Given the description of an element on the screen output the (x, y) to click on. 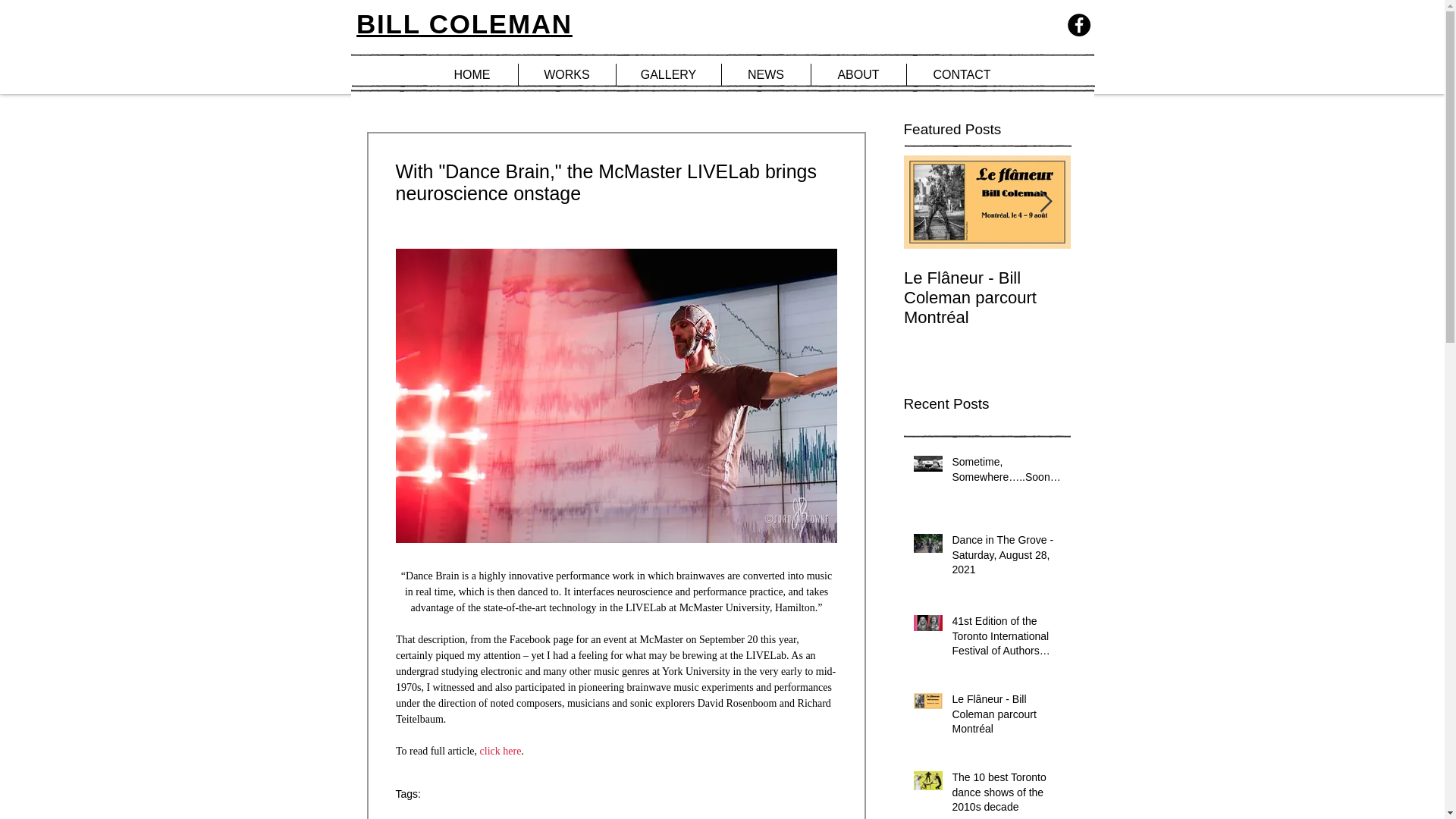
bill coleman (423, 818)
ABOUT (857, 74)
Dance in The Grove - Saturday, August 28, 2021 (1006, 558)
click here (500, 750)
CONTACT (962, 74)
The 10 best Toronto dance shows of the 2010s decade (1006, 794)
NEWS (766, 74)
HOME (471, 74)
